Given the description of an element on the screen output the (x, y) to click on. 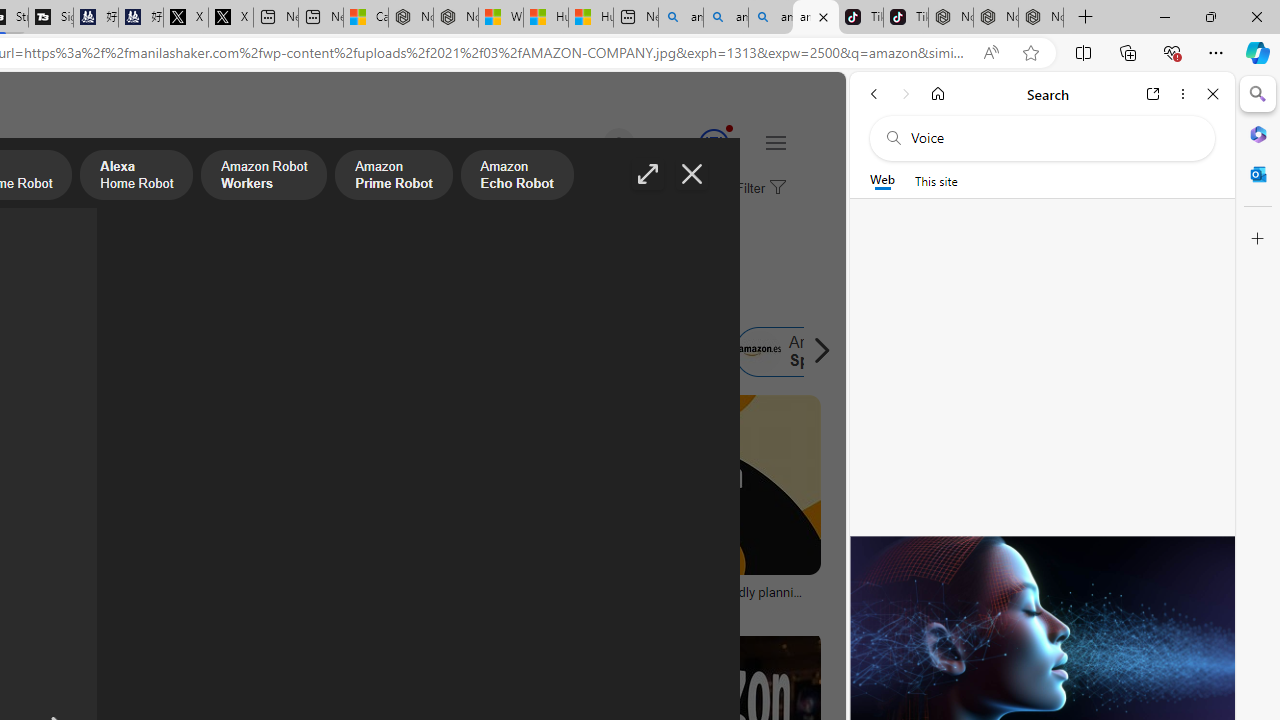
Class: medal-circled (713, 143)
logopng.com.br (98, 606)
Web scope (882, 180)
Amazon Forest (475, 351)
Scroll right (816, 351)
Nordace Siena Pro 15 Backpack (995, 17)
Amazon Spain (759, 351)
Filter (758, 189)
This site scope (936, 180)
Amazon Prime Membership (128, 351)
